Given the description of an element on the screen output the (x, y) to click on. 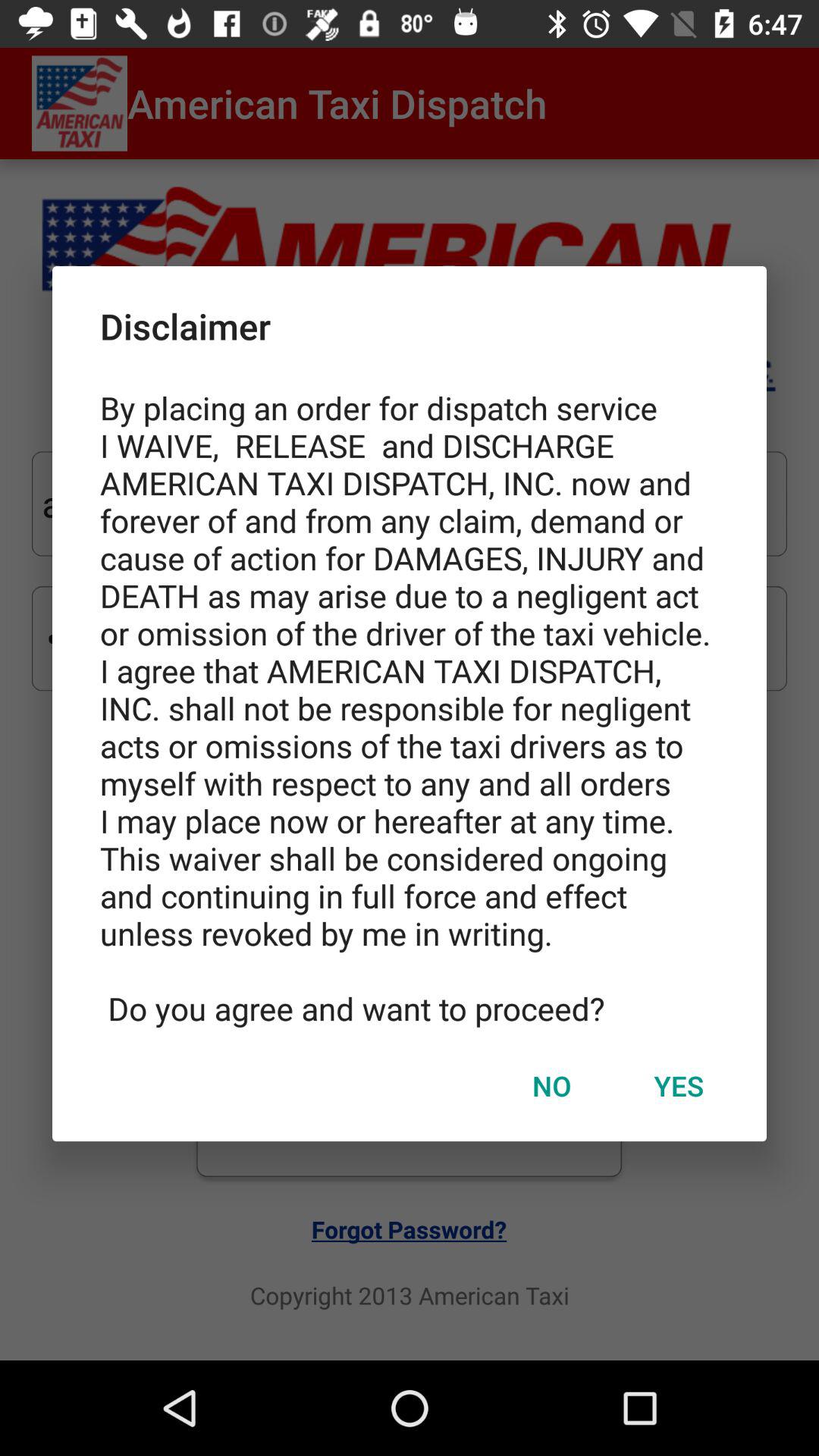
choose no icon (551, 1085)
